Given the description of an element on the screen output the (x, y) to click on. 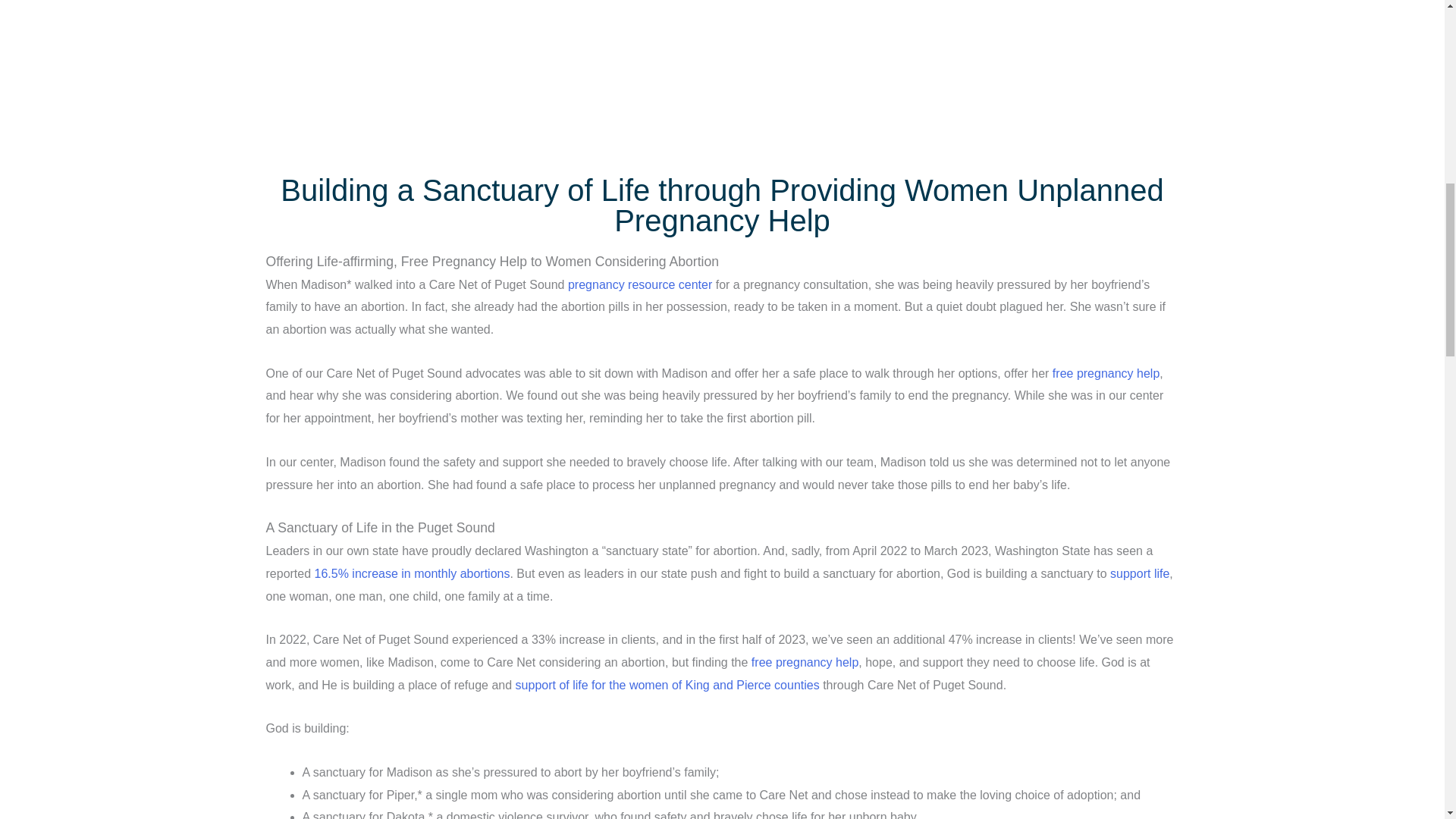
pregnancy resource center (639, 284)
free pregnancy help (1105, 373)
support of life for the women of King and Pierce counties (667, 684)
free pregnancy help (805, 662)
support life (1139, 573)
